Given the description of an element on the screen output the (x, y) to click on. 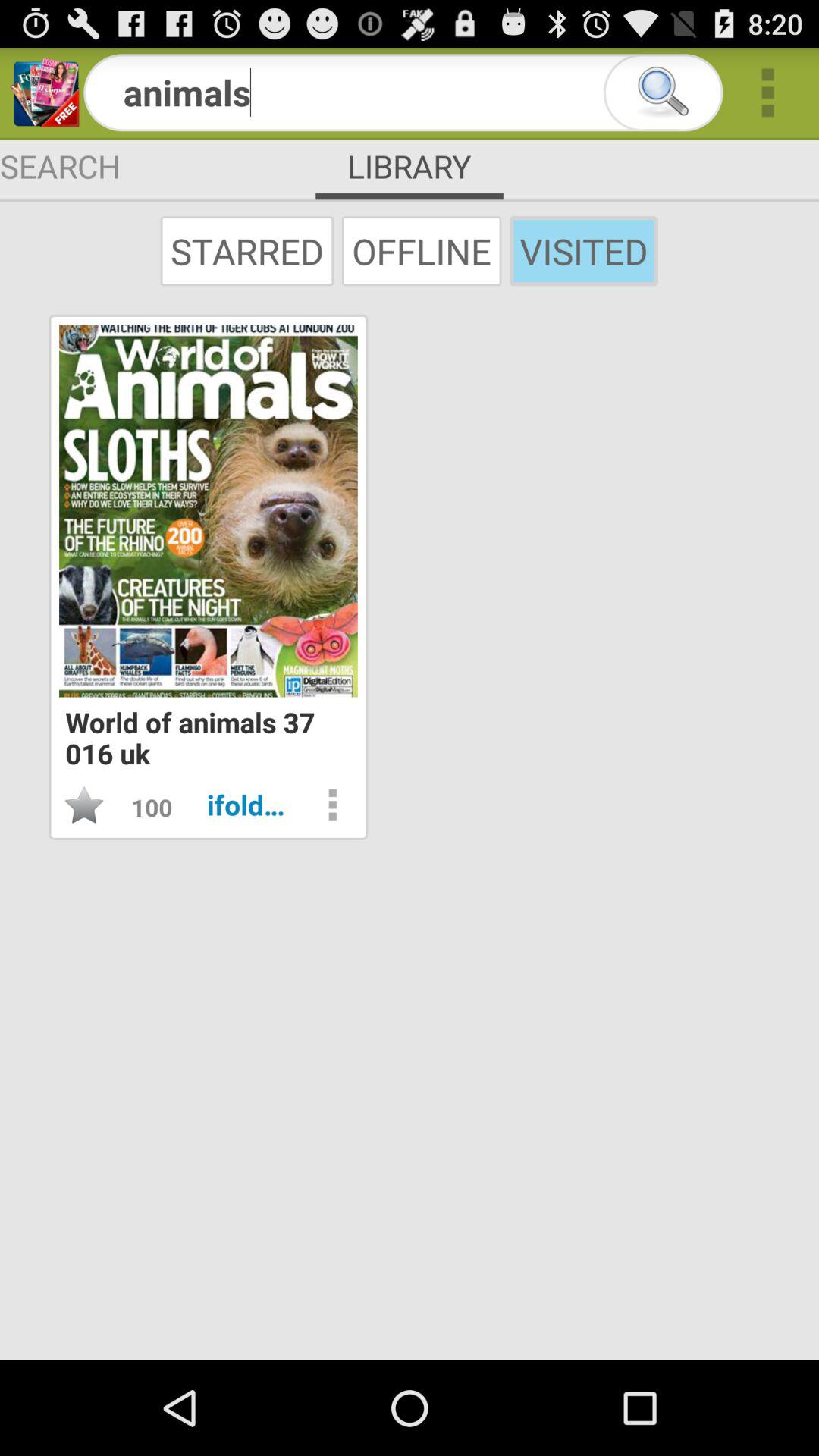
more options (767, 92)
